Given the description of an element on the screen output the (x, y) to click on. 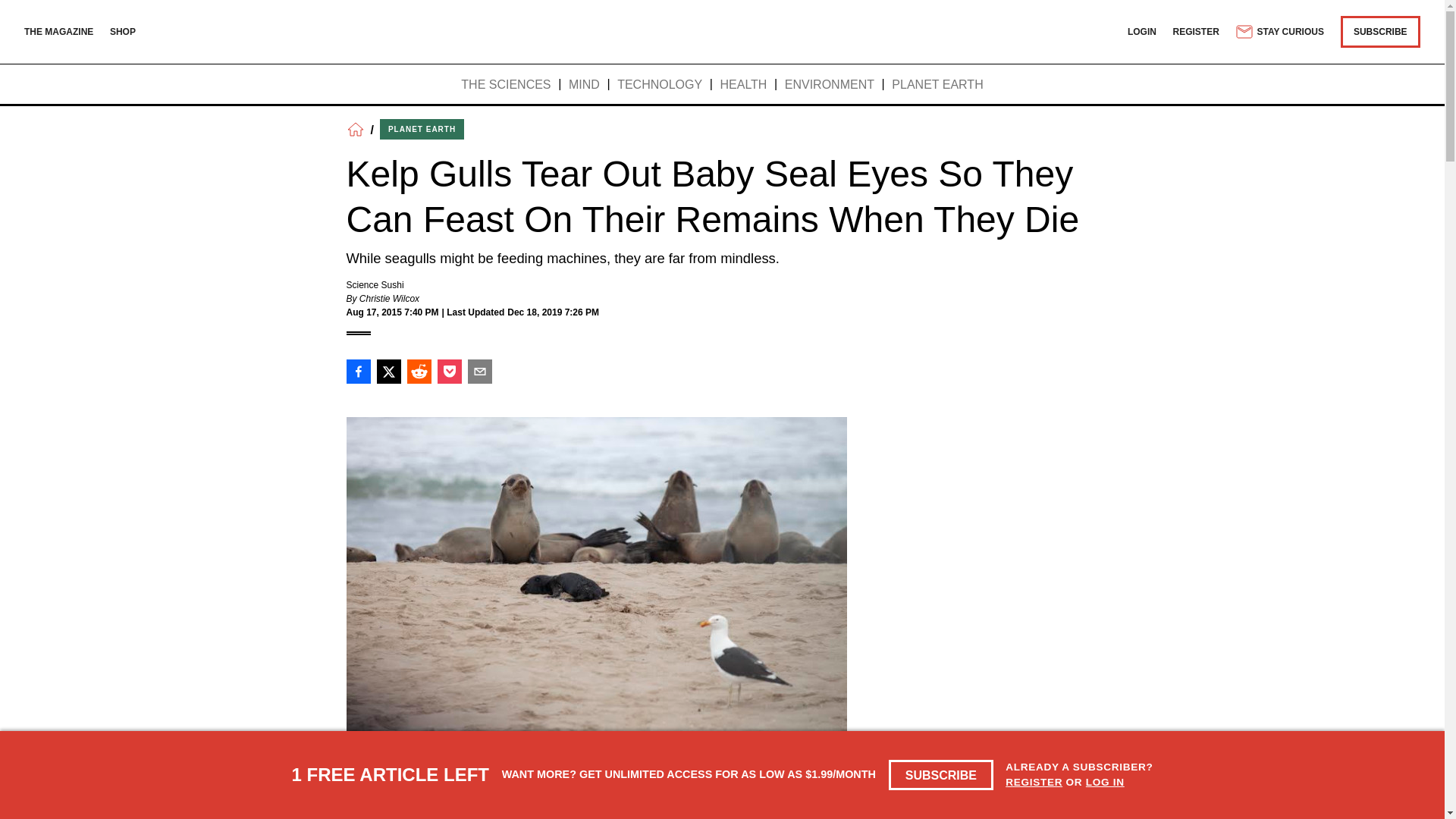
Science Sushi (374, 285)
THE MAGAZINE (58, 31)
SIGN UP (1063, 817)
MIND (584, 84)
LOGIN (1141, 31)
SUBSCRIBE (941, 775)
HEALTH (743, 84)
SHOP (122, 31)
SUBSCRIBE (1380, 31)
LOG IN (1105, 781)
